Given the description of an element on the screen output the (x, y) to click on. 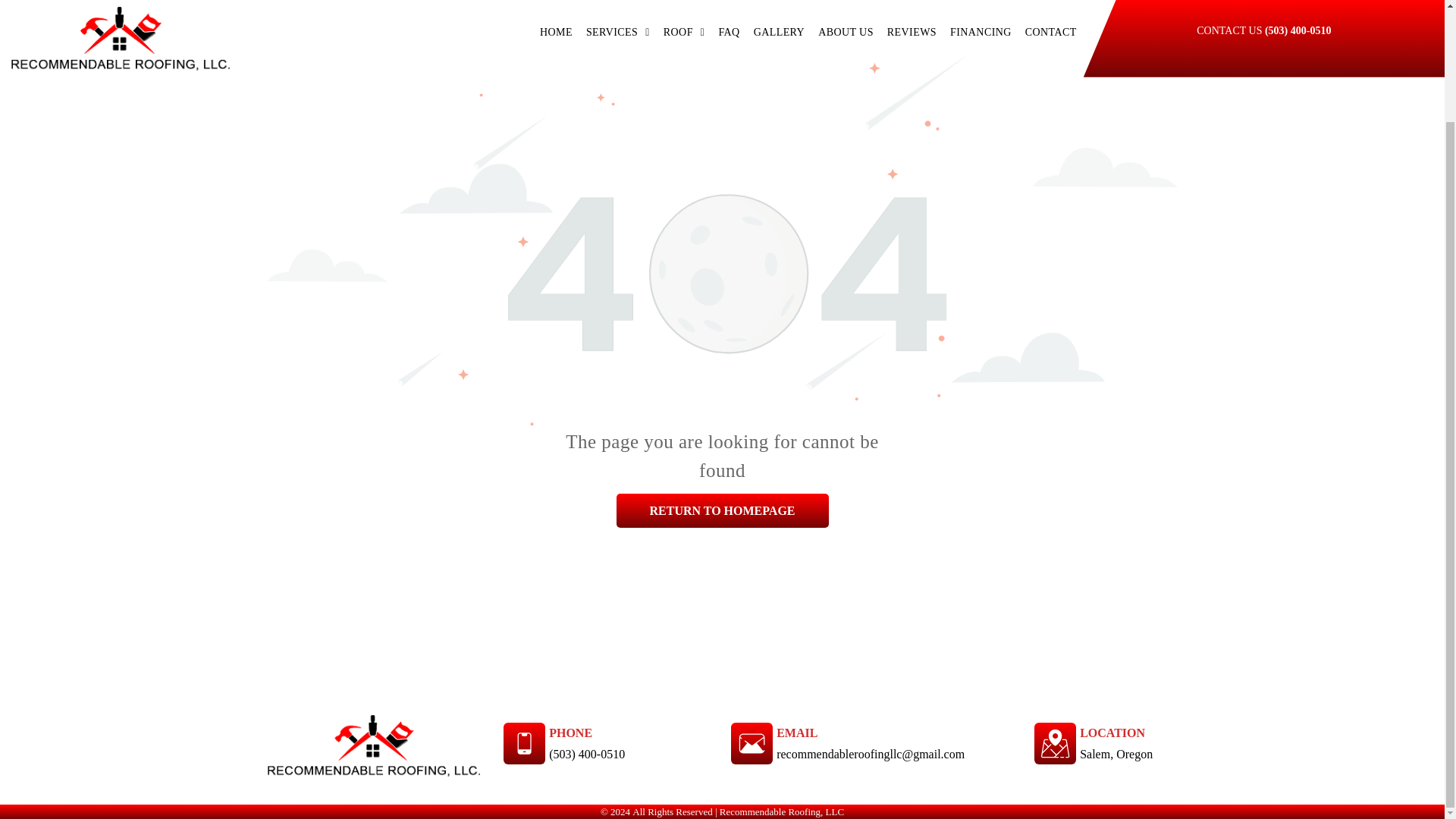
Recommendable Roofing, LLC (372, 745)
